Given the description of an element on the screen output the (x, y) to click on. 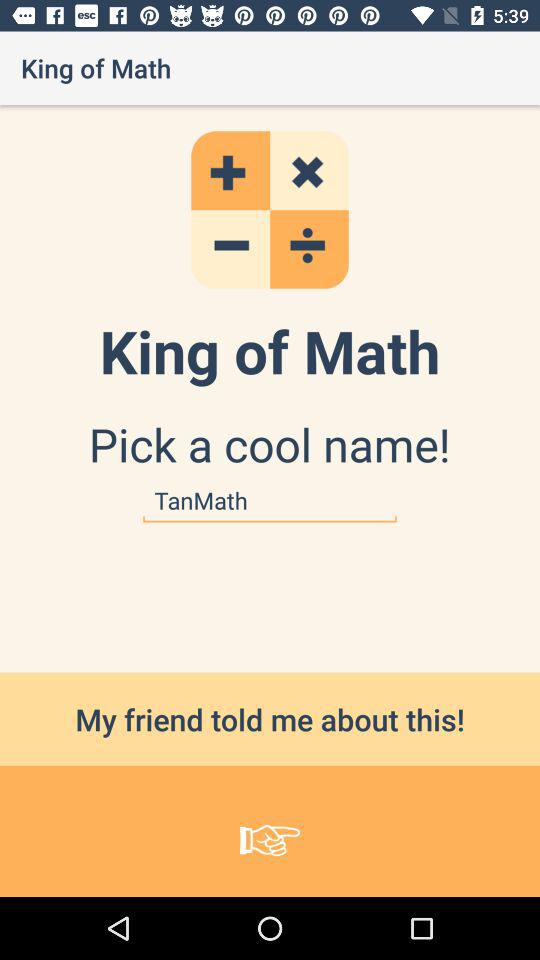
turn off my friend told icon (270, 718)
